Given the description of an element on the screen output the (x, y) to click on. 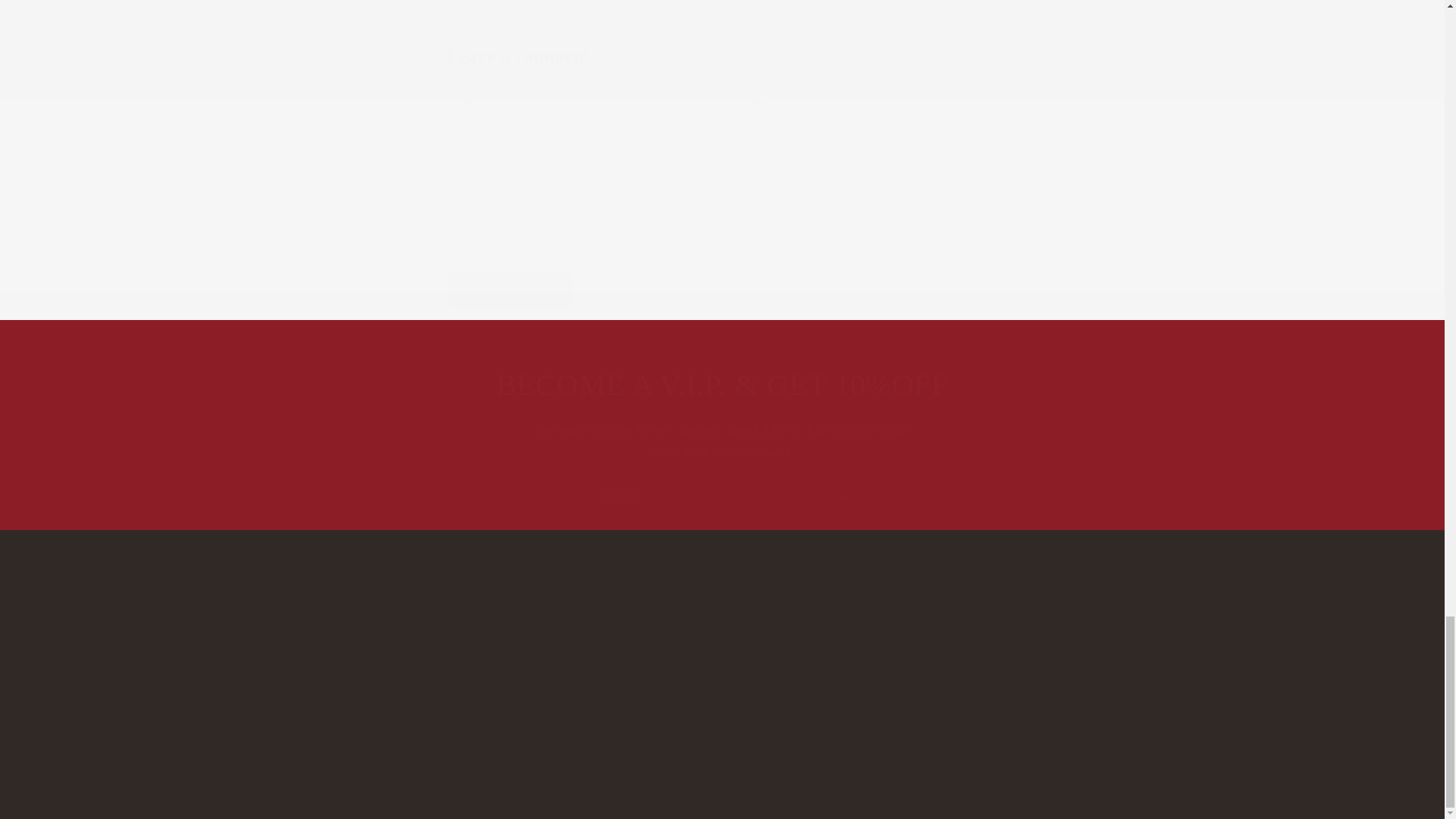
Email (722, 497)
Custom Orders (441, 660)
Post comment (722, 660)
